Given the description of an element on the screen output the (x, y) to click on. 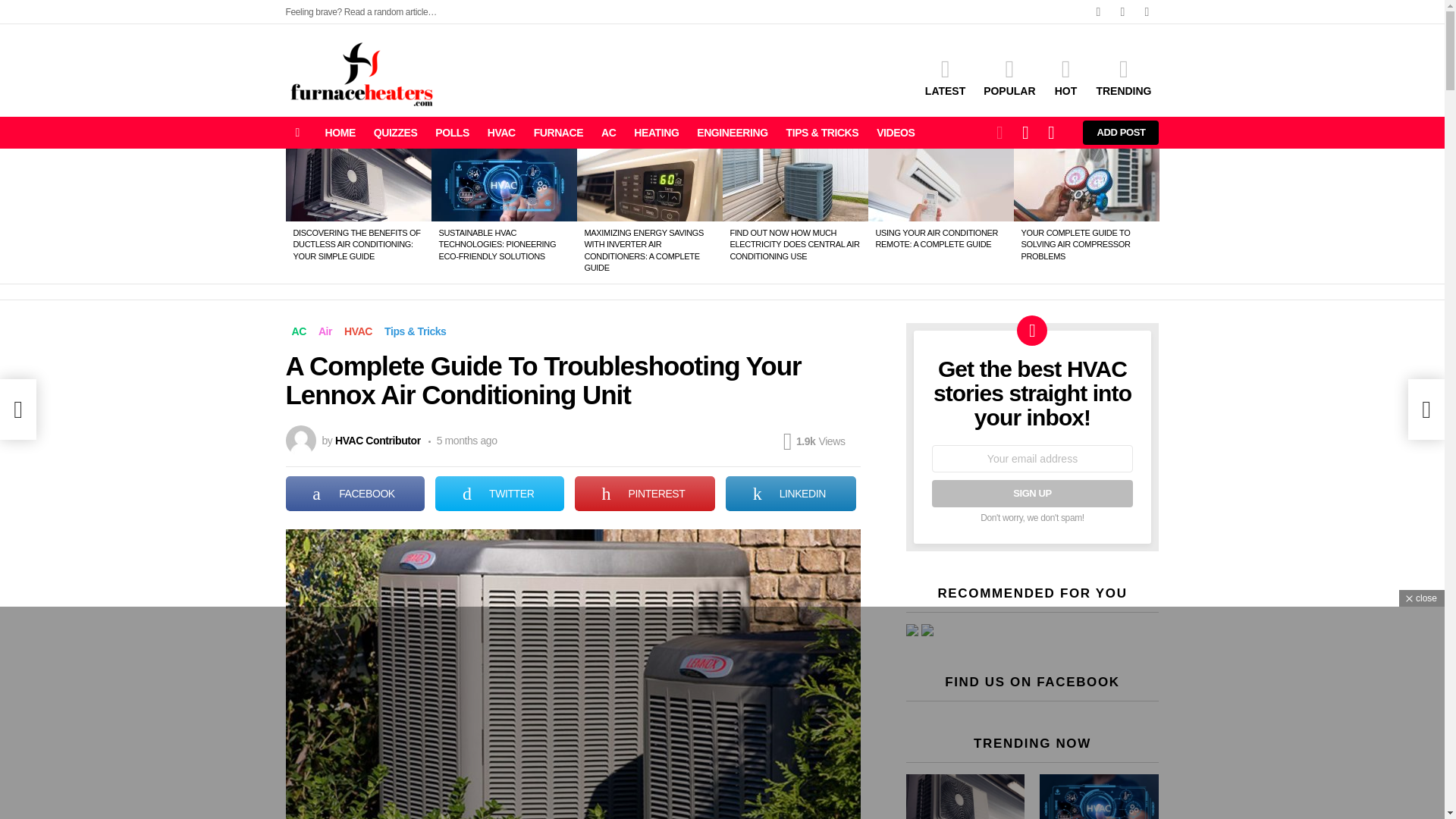
FURNACE (558, 132)
Menu (296, 132)
Sign up (1031, 492)
POPULAR (1008, 76)
Posts by HVAC Contributor (377, 440)
TRENDING (1122, 76)
facebook (1097, 11)
HEATING (655, 132)
Your Complete Guide To Solving Air Compressor Problems (1085, 184)
twitter (1121, 11)
